Given the description of an element on the screen output the (x, y) to click on. 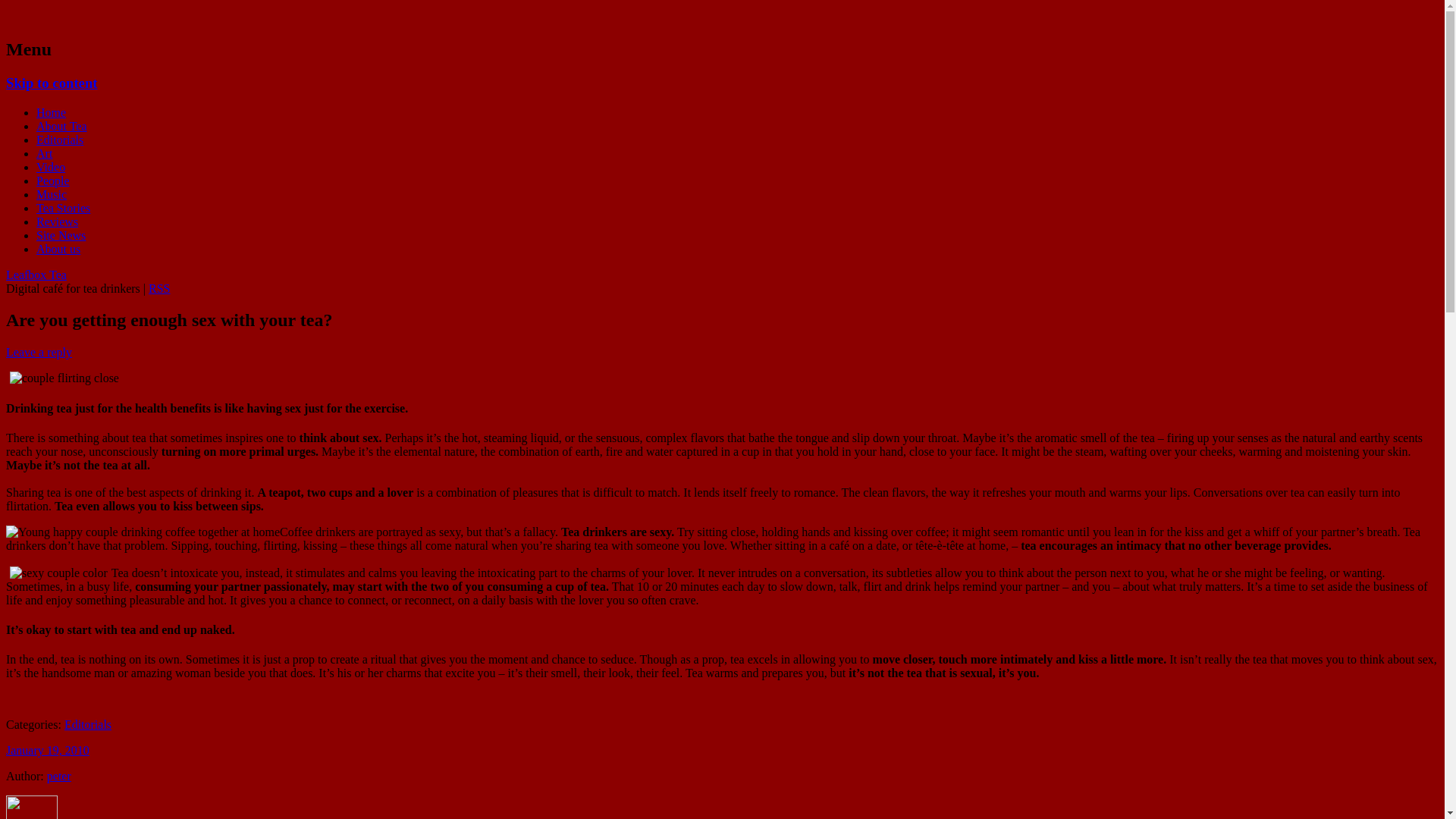
Site News (60, 235)
Editorials (88, 724)
Leave a reply (38, 351)
People (52, 180)
Music (51, 194)
Editorials (59, 139)
02:50 (46, 749)
Subscribe to the RSS Feed of this site (159, 287)
RSS (159, 287)
Skip to content (51, 82)
